Given the description of an element on the screen output the (x, y) to click on. 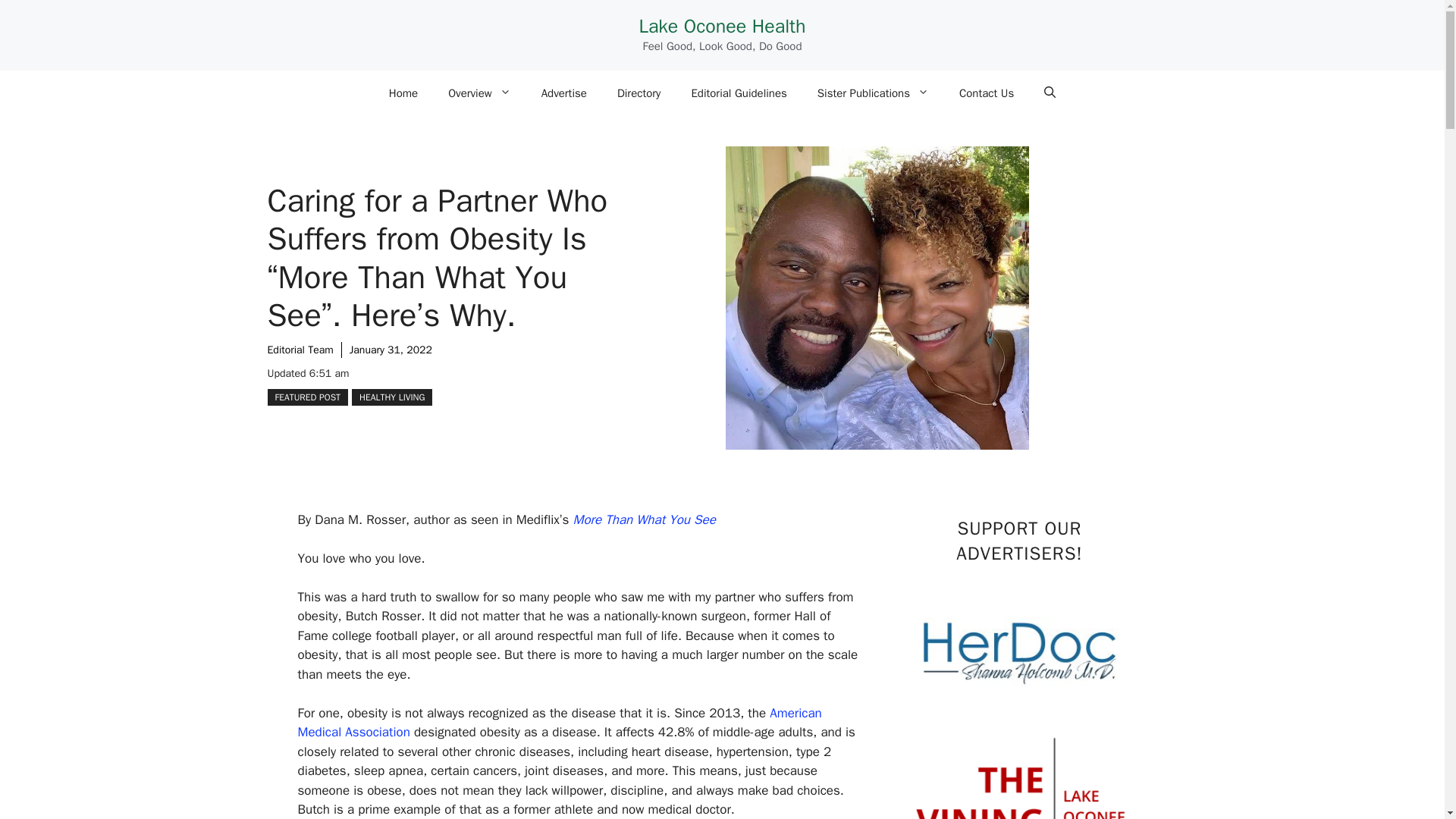
HerDoc (1018, 650)
Contact Us (986, 92)
Home (403, 92)
Overview (478, 92)
Vining-Group (1018, 769)
Directory (639, 92)
Advertise (563, 92)
More Than What You See (644, 519)
American Medical Association (559, 723)
Editorial Guidelines (738, 92)
